Given the description of an element on the screen output the (x, y) to click on. 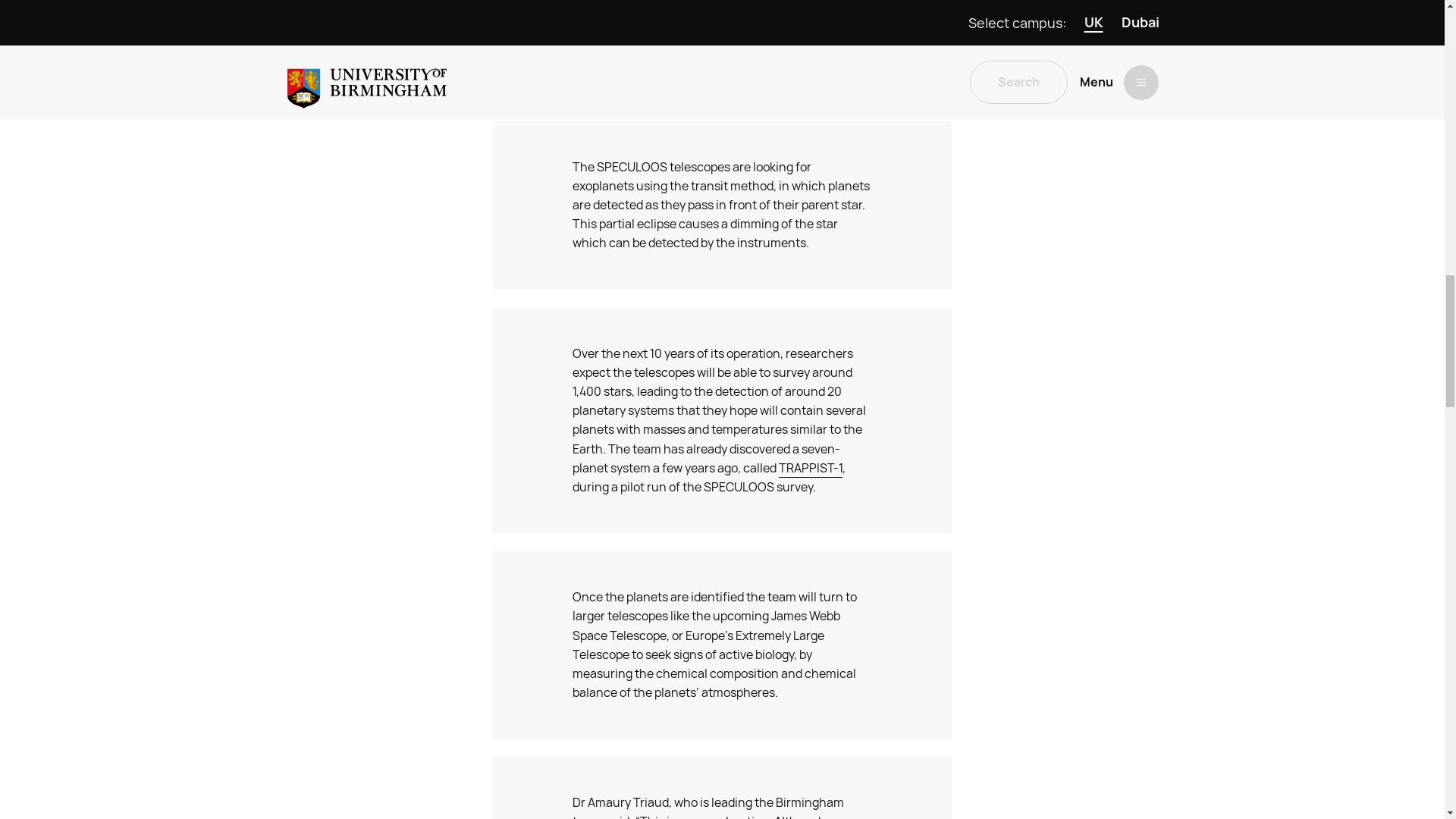
TRAPPIST-1 (810, 468)
